Given the description of an element on the screen output the (x, y) to click on. 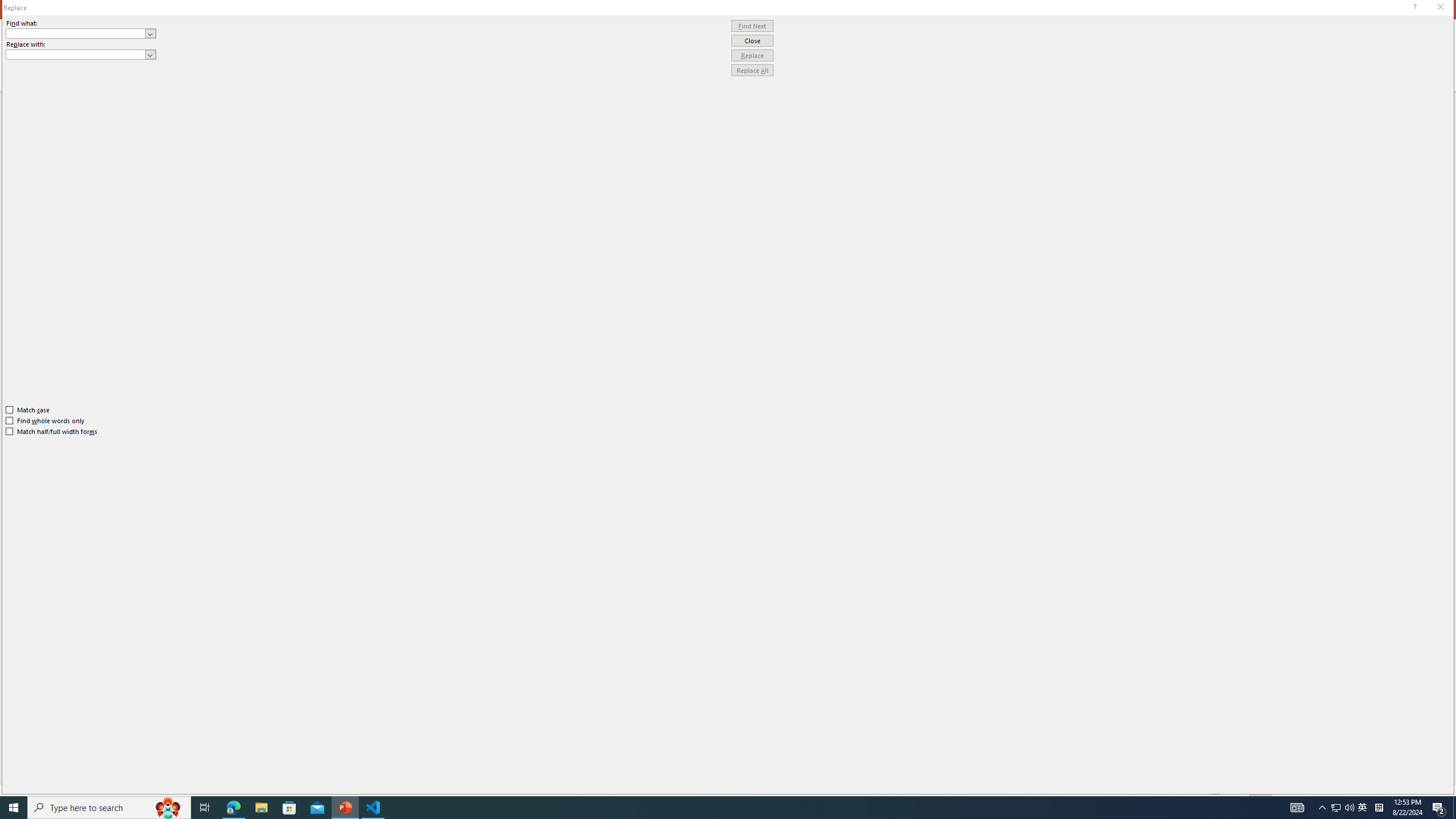
Shape Outline (701, 56)
